Given the description of an element on the screen output the (x, y) to click on. 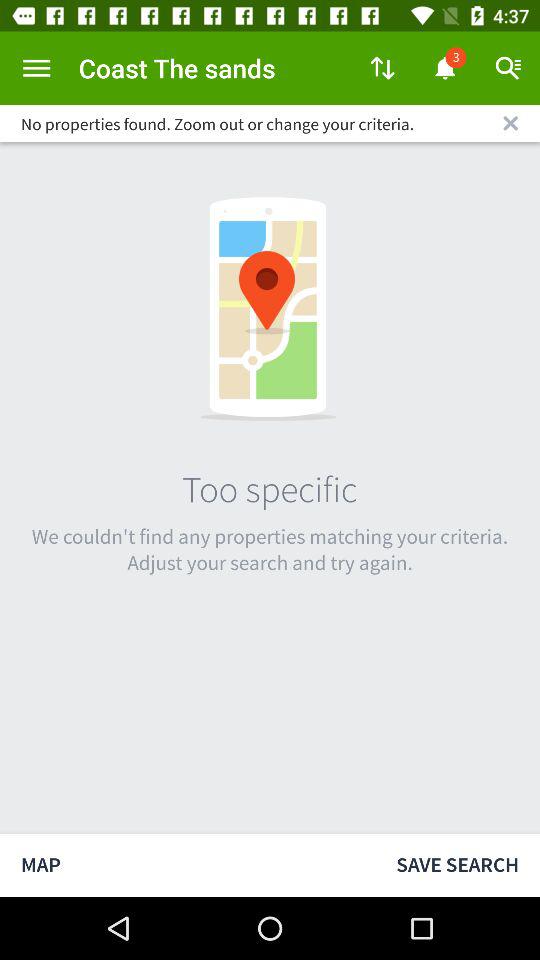
exit the search (510, 123)
